Given the description of an element on the screen output the (x, y) to click on. 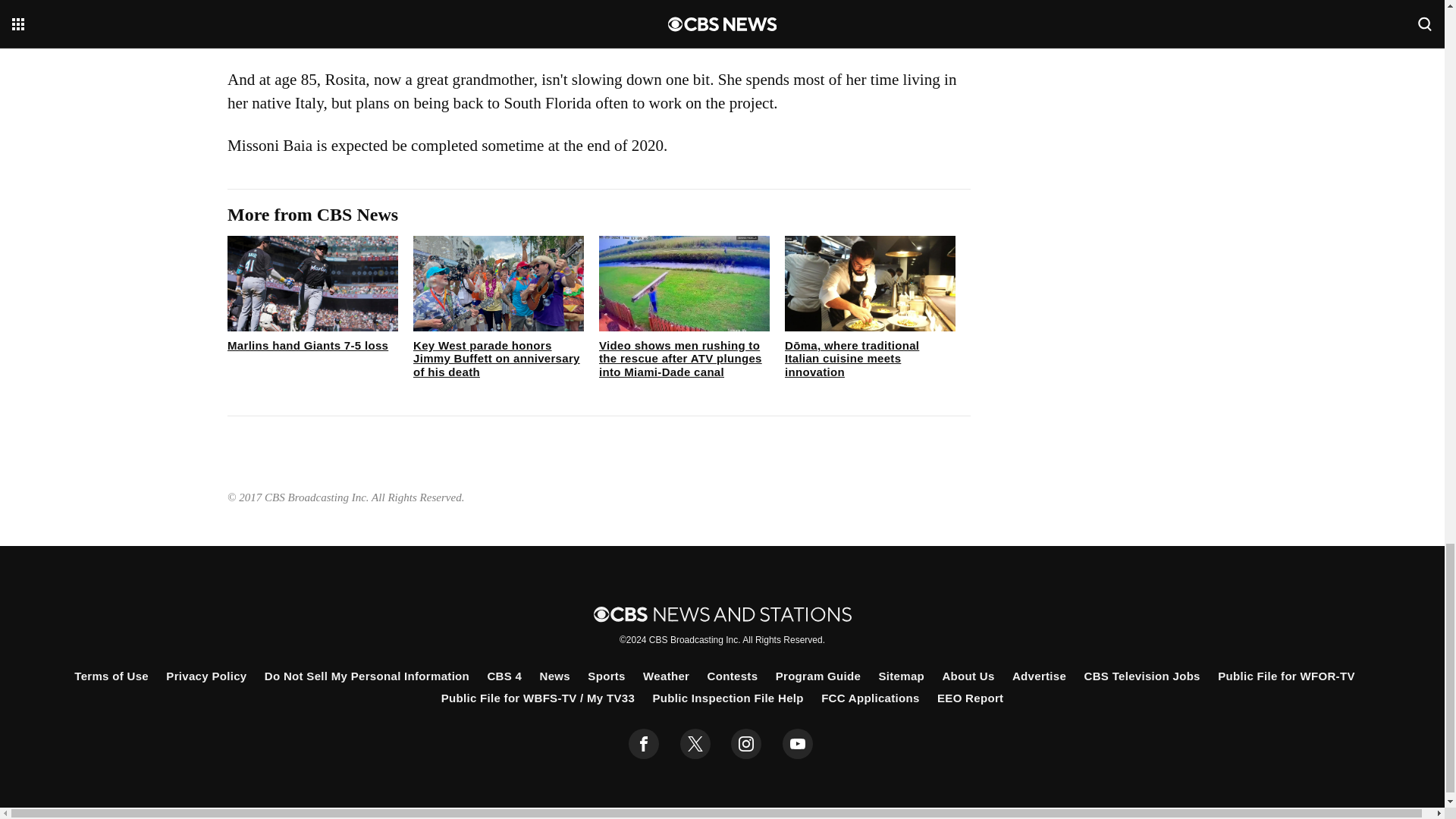
youtube (797, 743)
instagram (745, 743)
twitter (694, 743)
facebook (643, 743)
